Given the description of an element on the screen output the (x, y) to click on. 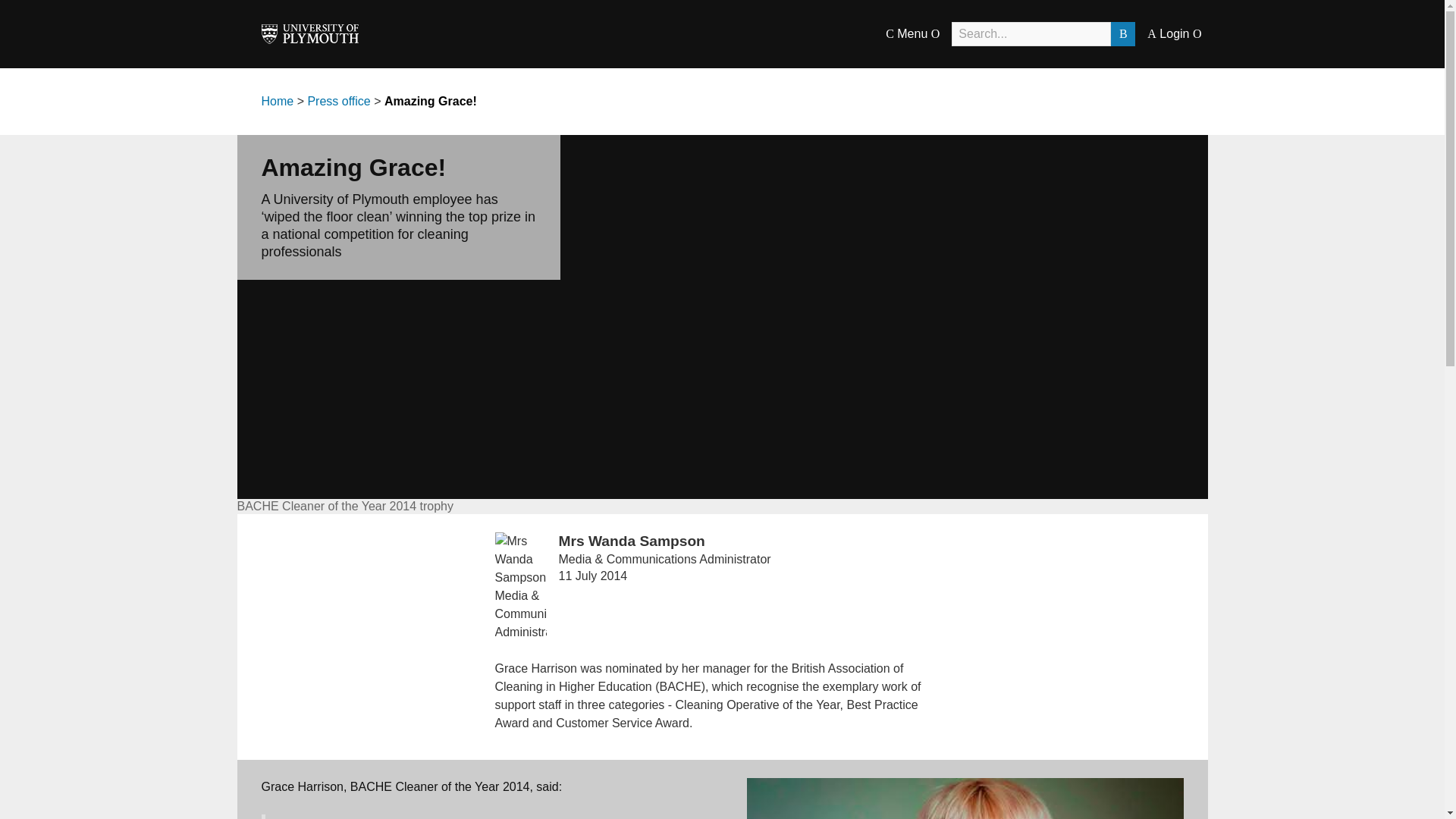
B (1122, 33)
C Menu O (911, 33)
A Login O (1174, 33)
